Given the description of an element on the screen output the (x, y) to click on. 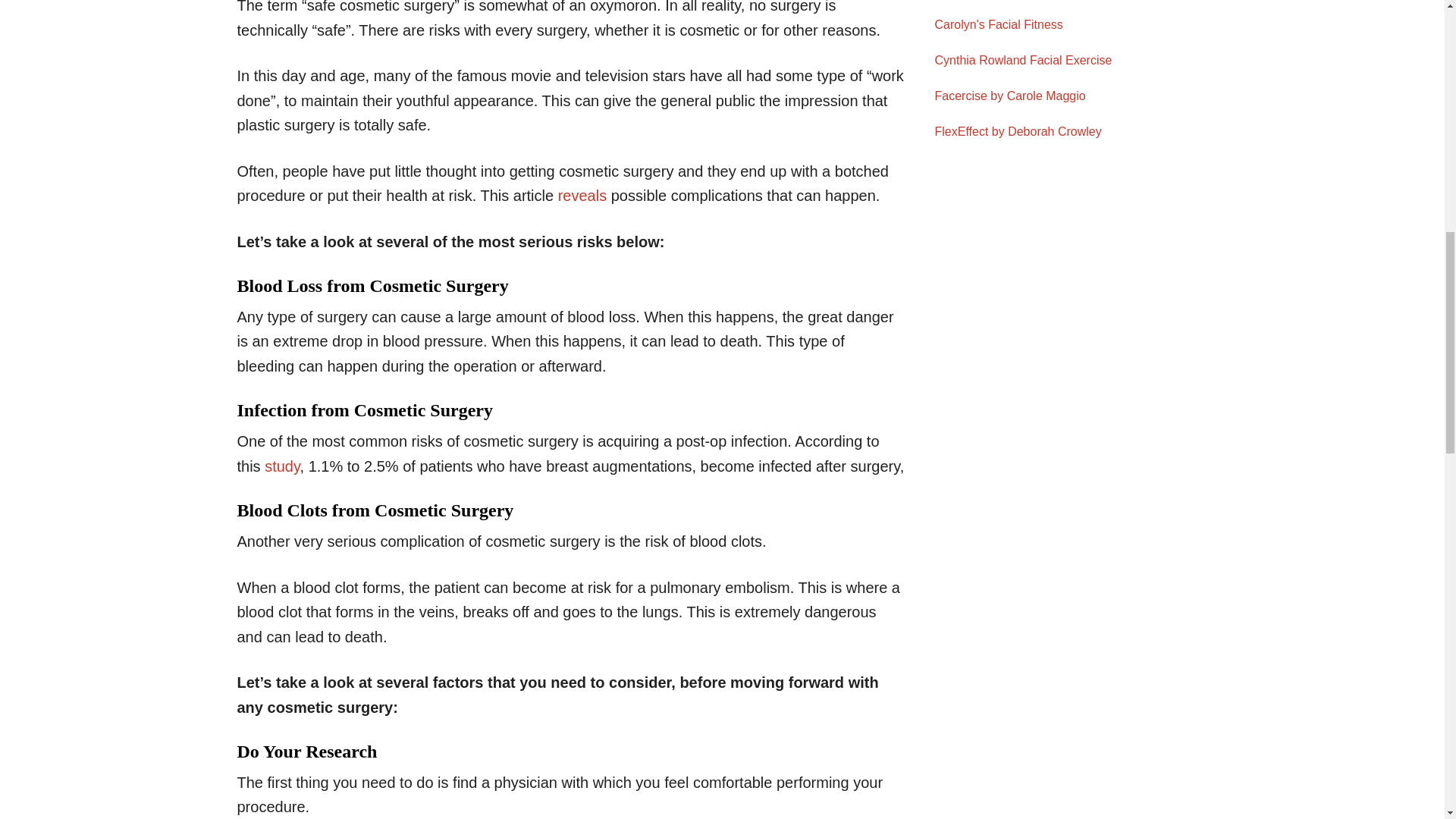
Facercise by Carole Maggio (1070, 96)
reveals (582, 195)
FlexEffect by Deborah Crowley (1070, 131)
Cynthia Rowland Facial Exercise (1070, 60)
Carolyn's Facial Fitness (1070, 25)
study (281, 466)
